Given the description of an element on the screen output the (x, y) to click on. 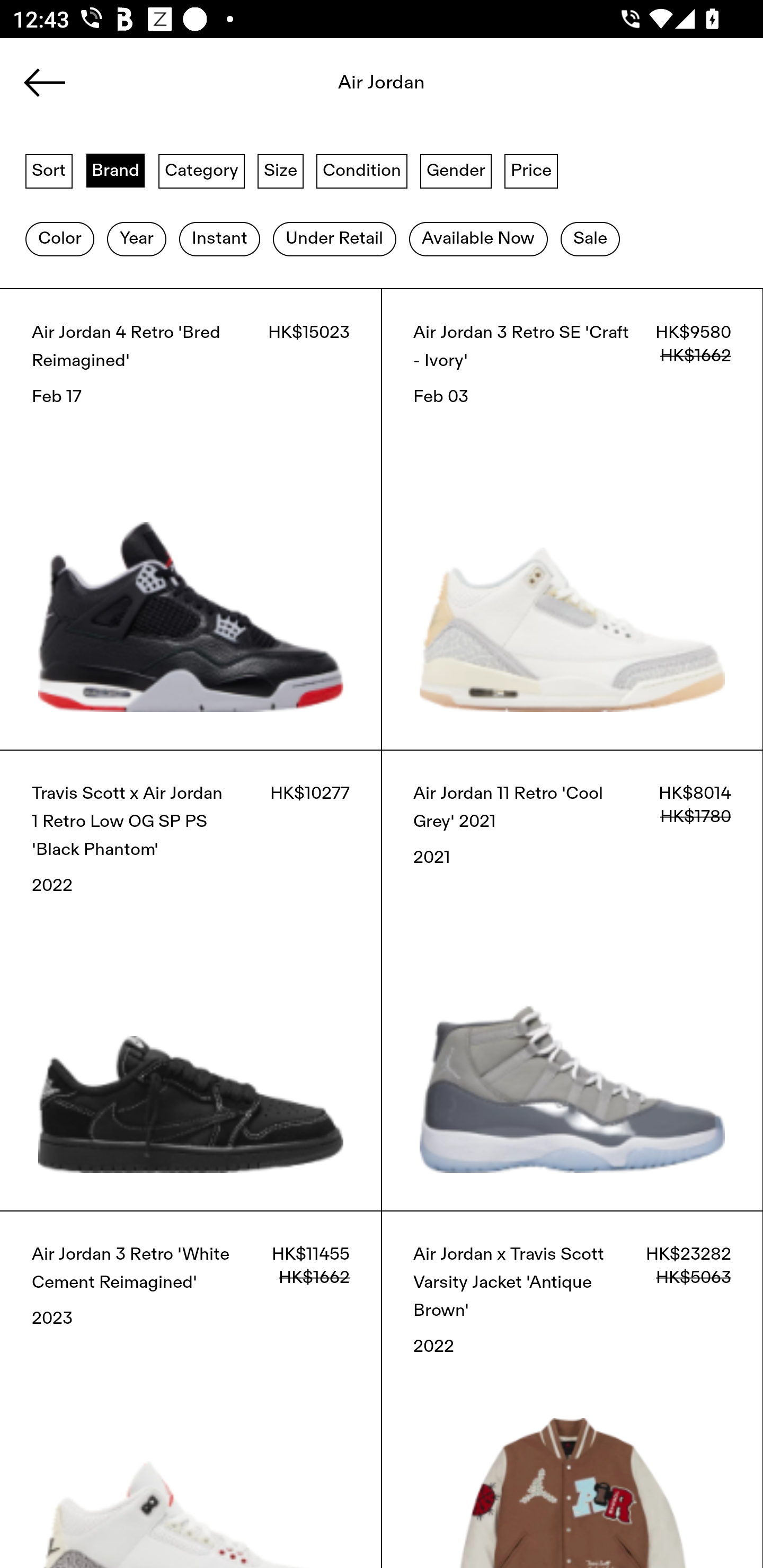
Sort (48, 170)
Brand (115, 170)
Category (201, 170)
Size (280, 170)
Condition (361, 170)
Gender (455, 170)
Price (530, 170)
Color (59, 239)
Year (136, 239)
Instant (219, 239)
Under Retail (334, 239)
Available Now (477, 239)
Sale (589, 239)
